Given the description of an element on the screen output the (x, y) to click on. 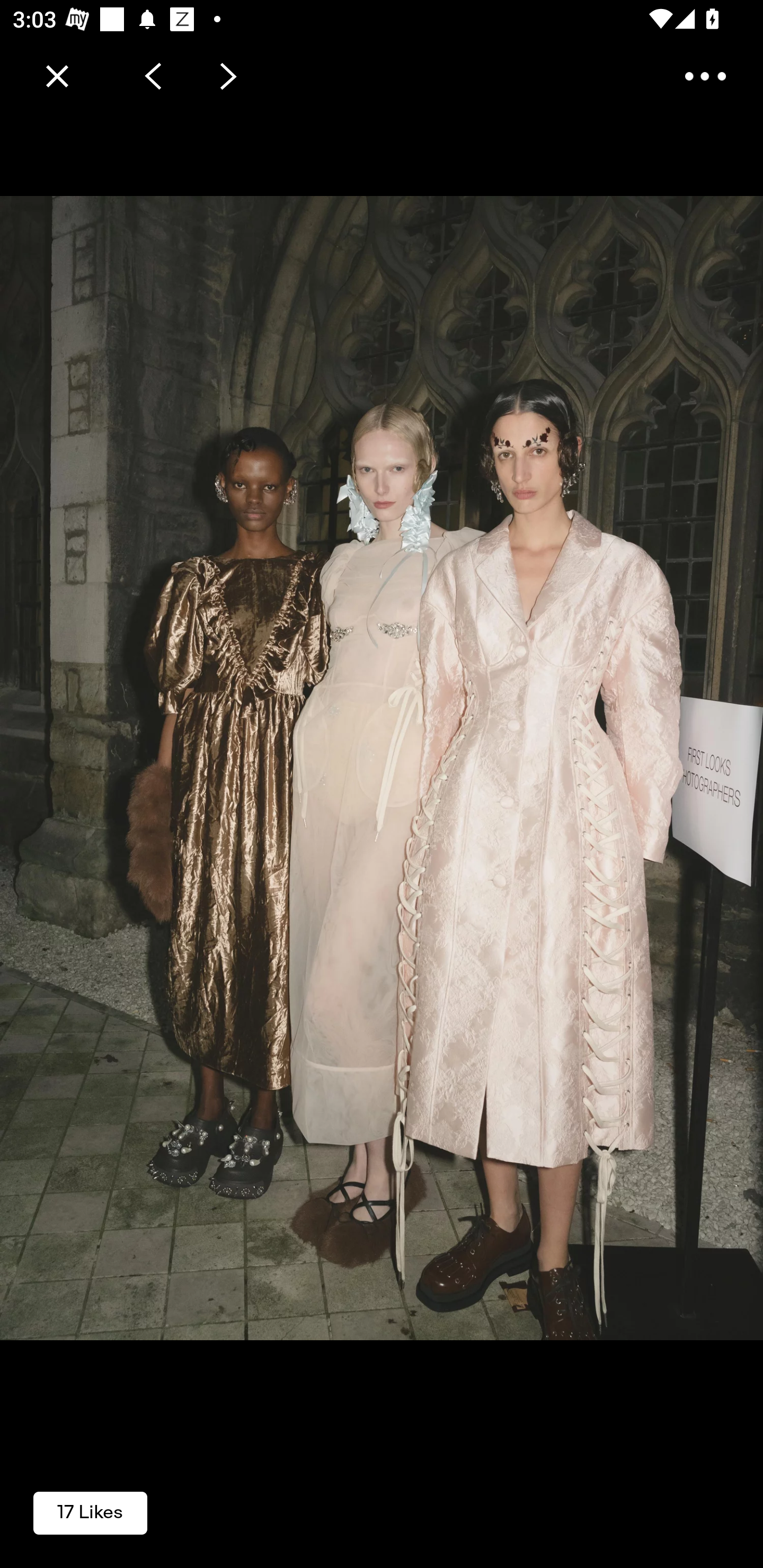
17 Likes (90, 1512)
